Given the description of an element on the screen output the (x, y) to click on. 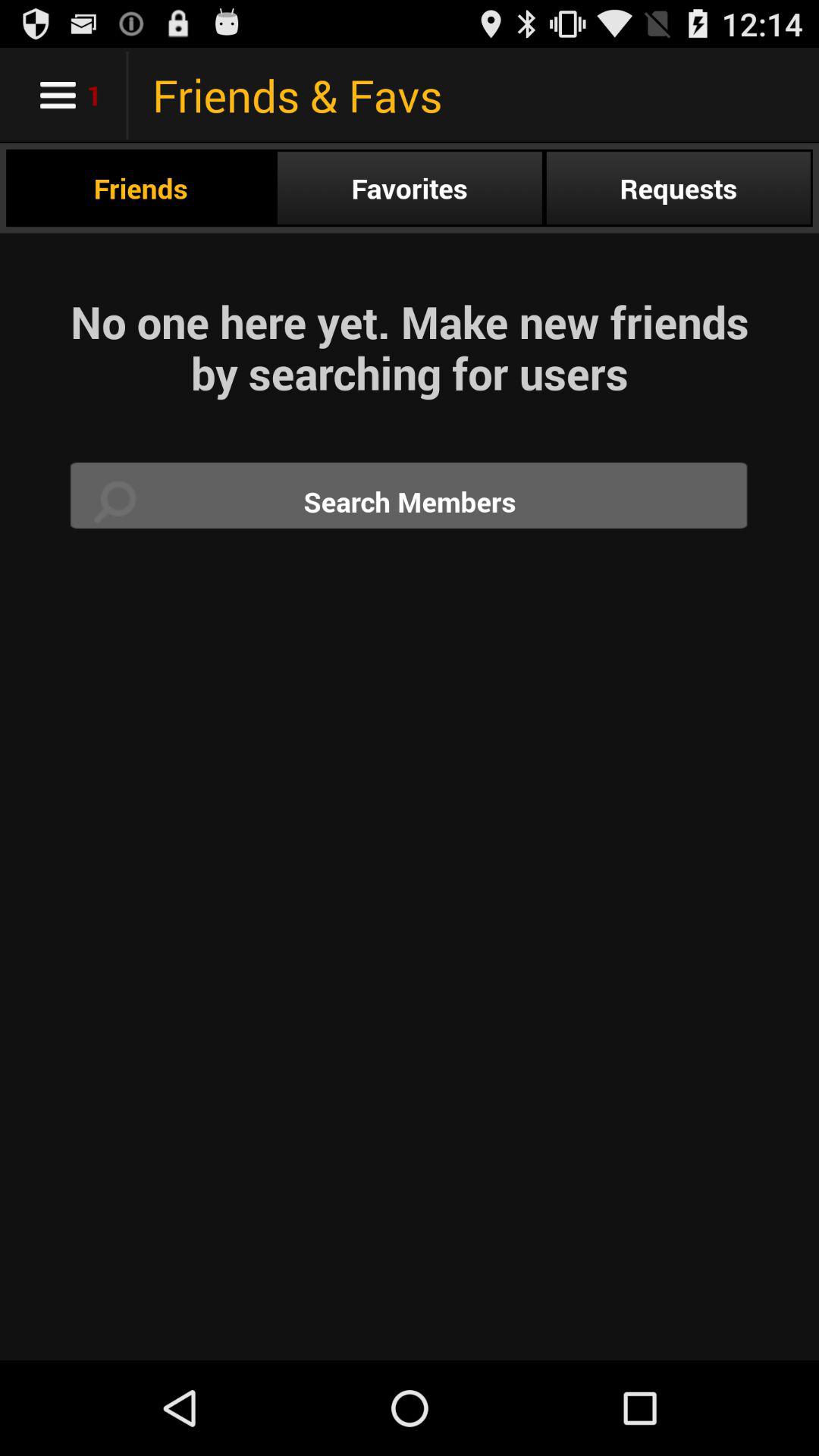
turn off the item next to friends icon (409, 187)
